Given the description of an element on the screen output the (x, y) to click on. 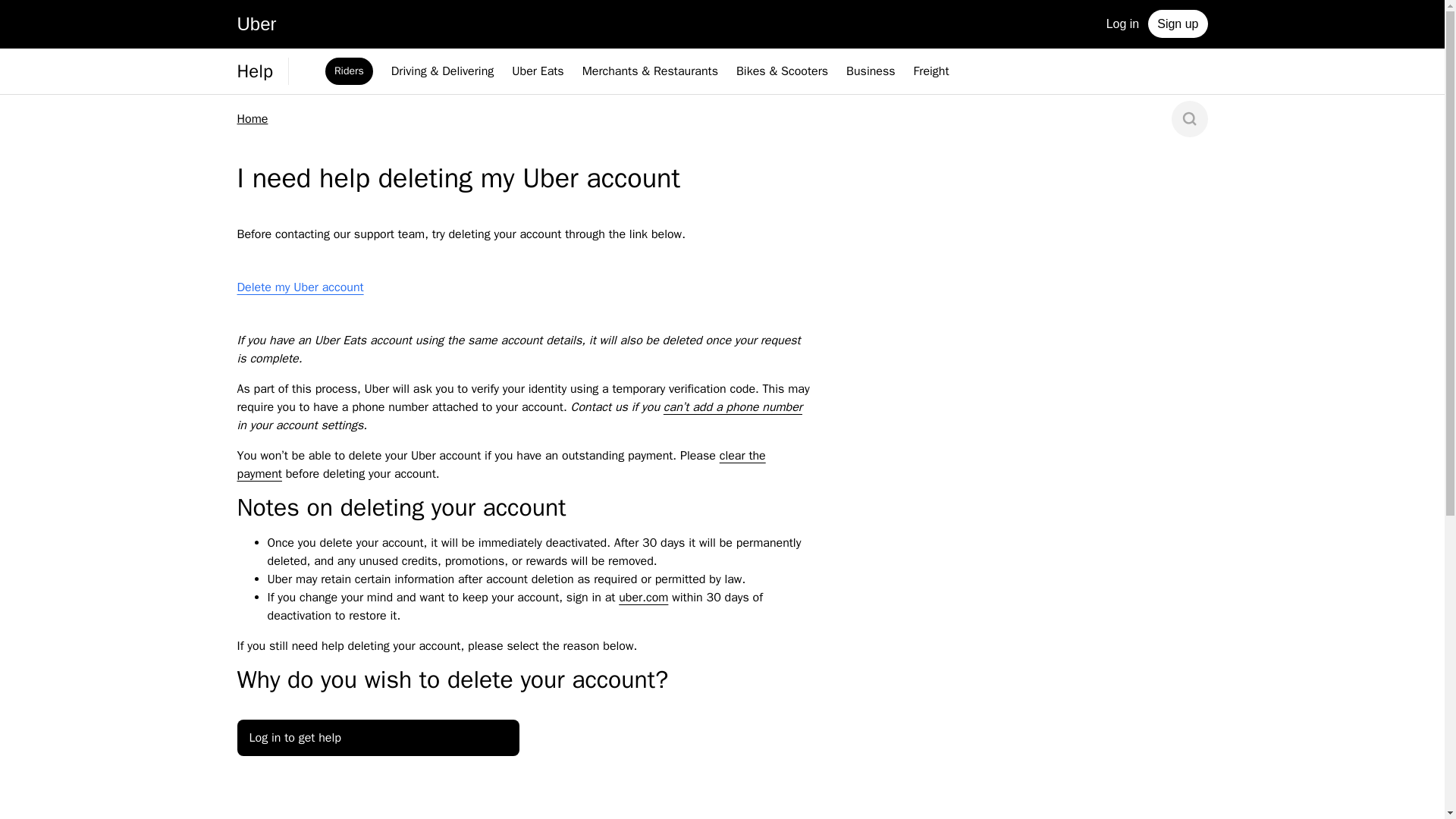
Home (251, 118)
Sign up (1177, 23)
Riders (348, 71)
Uber (255, 25)
Log in to get help (376, 737)
clear the payment (500, 464)
Business (870, 70)
Uber Eats (537, 70)
Log in (1122, 23)
Freight (931, 70)
